Given the description of an element on the screen output the (x, y) to click on. 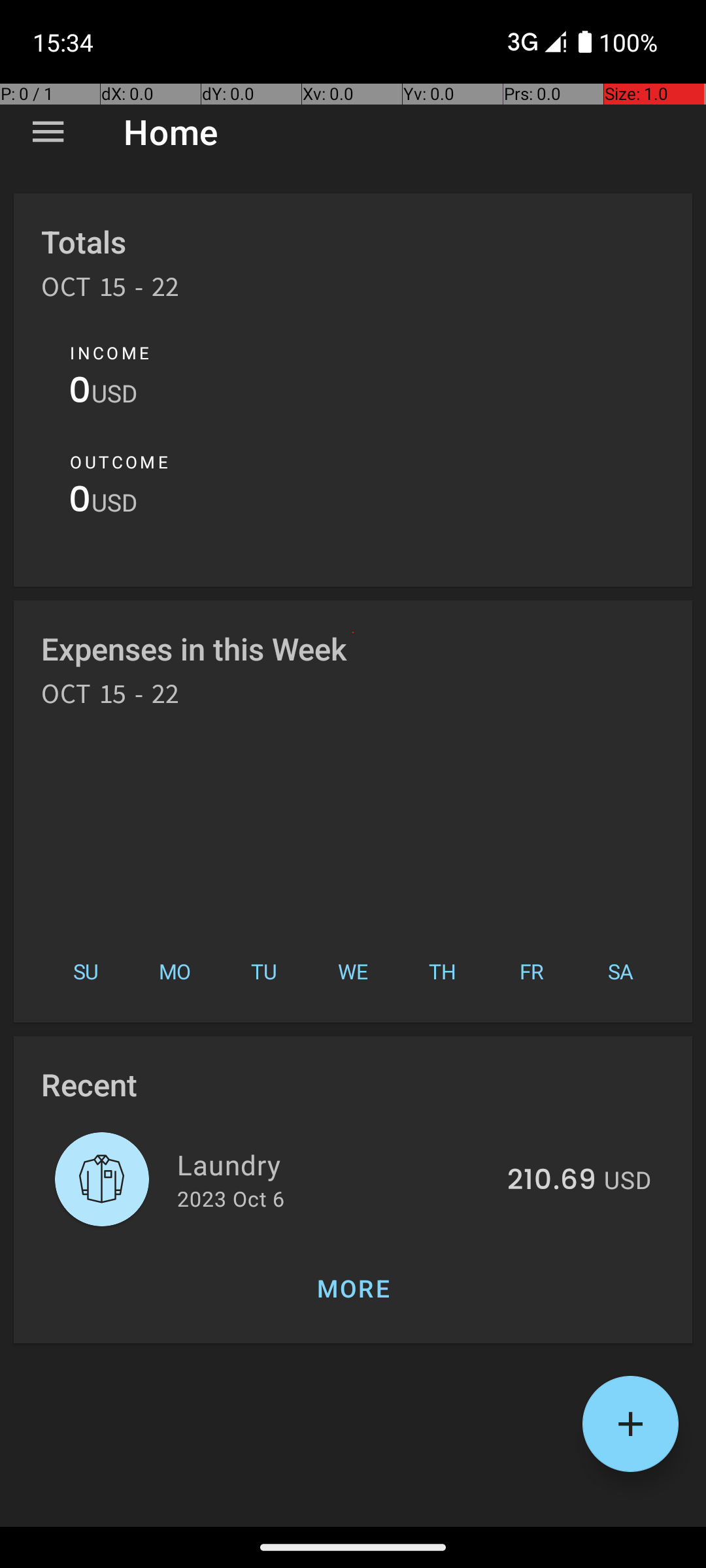
Laundry Element type: android.widget.TextView (334, 1164)
2023 Oct 6 Element type: android.widget.TextView (230, 1198)
210.69 Element type: android.widget.TextView (551, 1180)
